Given the description of an element on the screen output the (x, y) to click on. 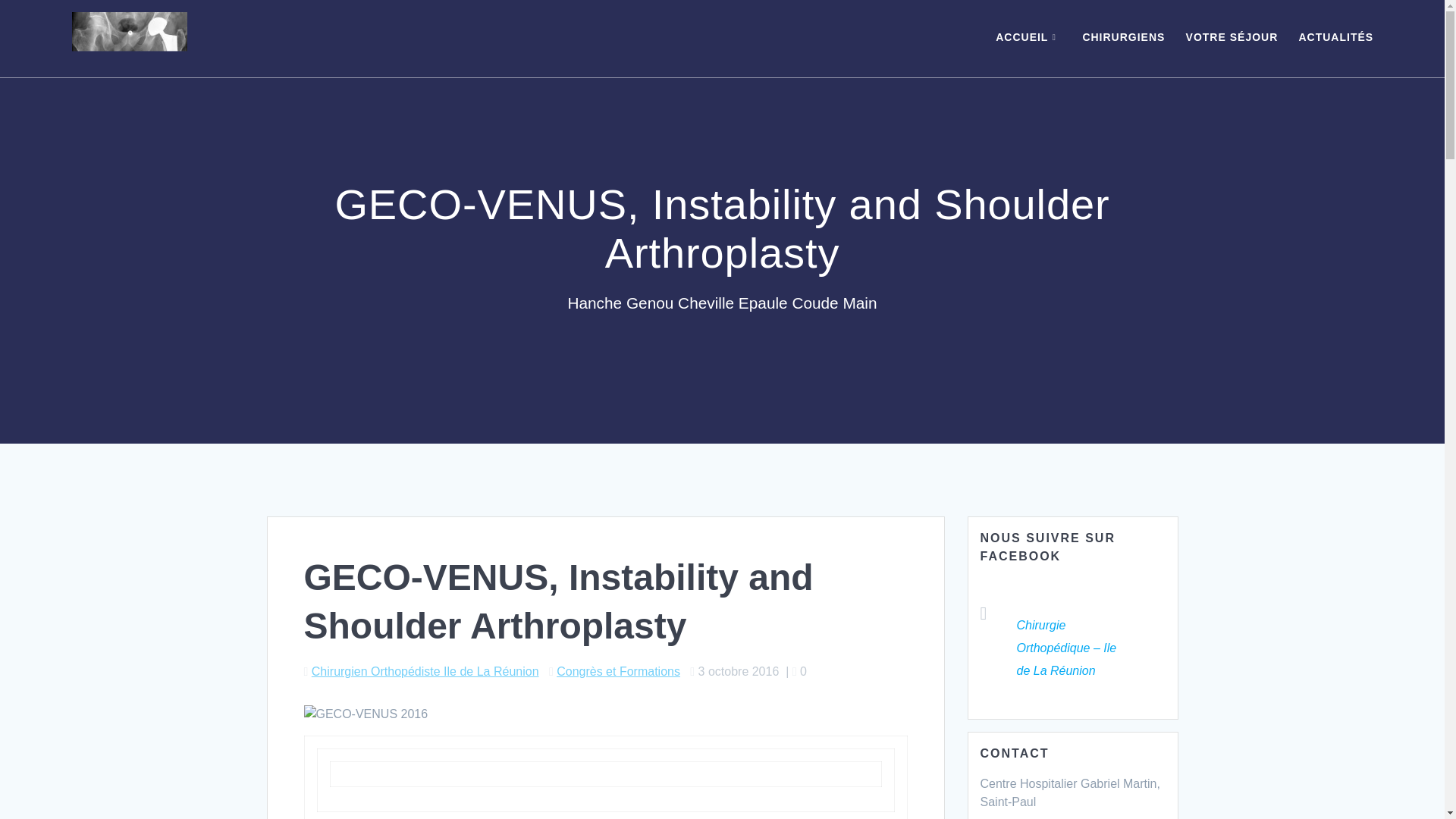
ACCUEIL (1028, 37)
CHIRURGIENS (1122, 37)
